Given the description of an element on the screen output the (x, y) to click on. 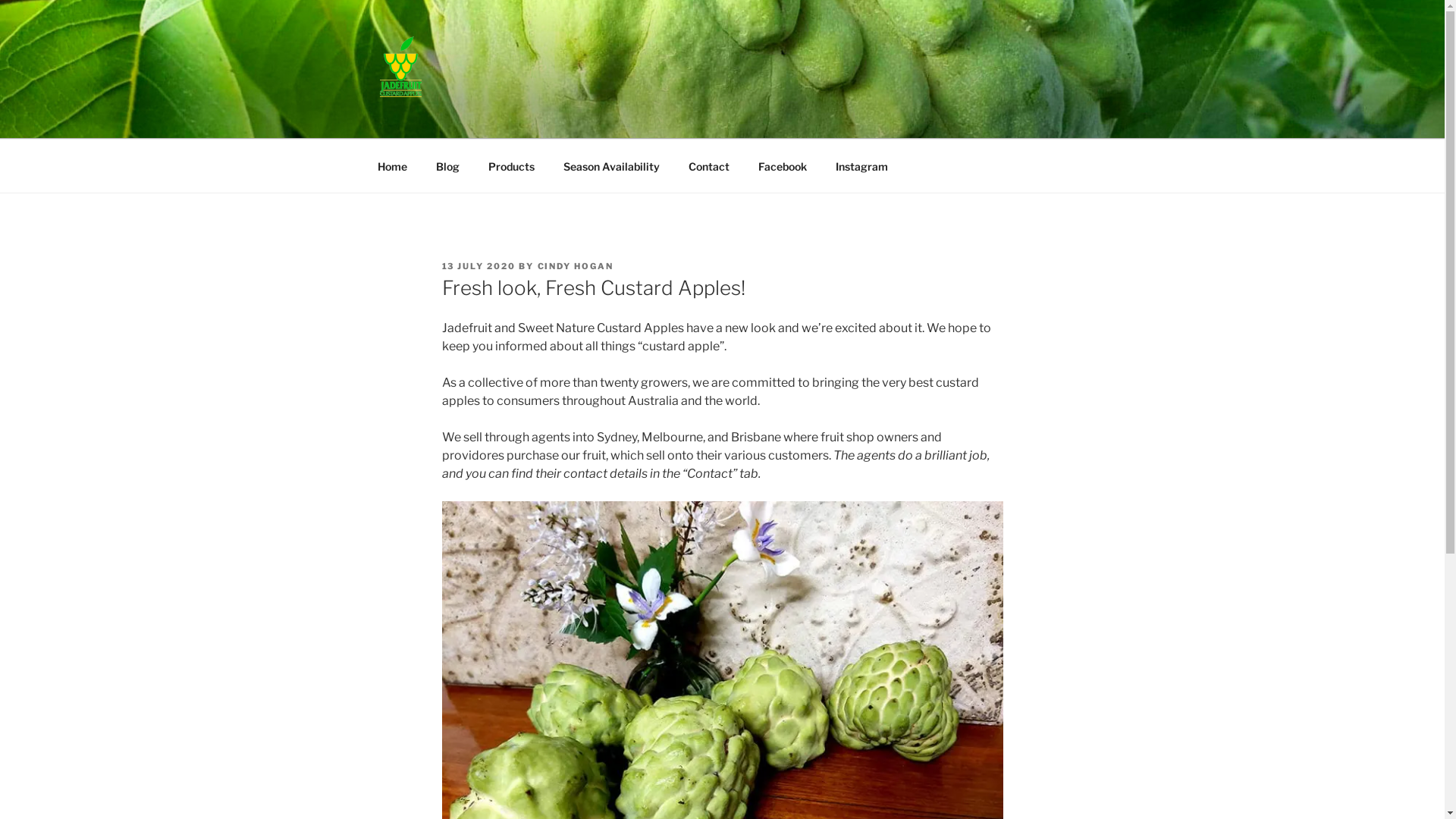
Instagram Element type: text (861, 165)
Facebook Element type: text (781, 165)
Contact Element type: text (708, 165)
Season Availability Element type: text (611, 165)
JADEFRUIT CUSTARD APPLES Element type: text (613, 118)
CINDY HOGAN Element type: text (574, 265)
Home Element type: text (392, 165)
Blog Element type: text (448, 165)
13 JULY 2020 Element type: text (478, 265)
Products Element type: text (510, 165)
